Given the description of an element on the screen output the (x, y) to click on. 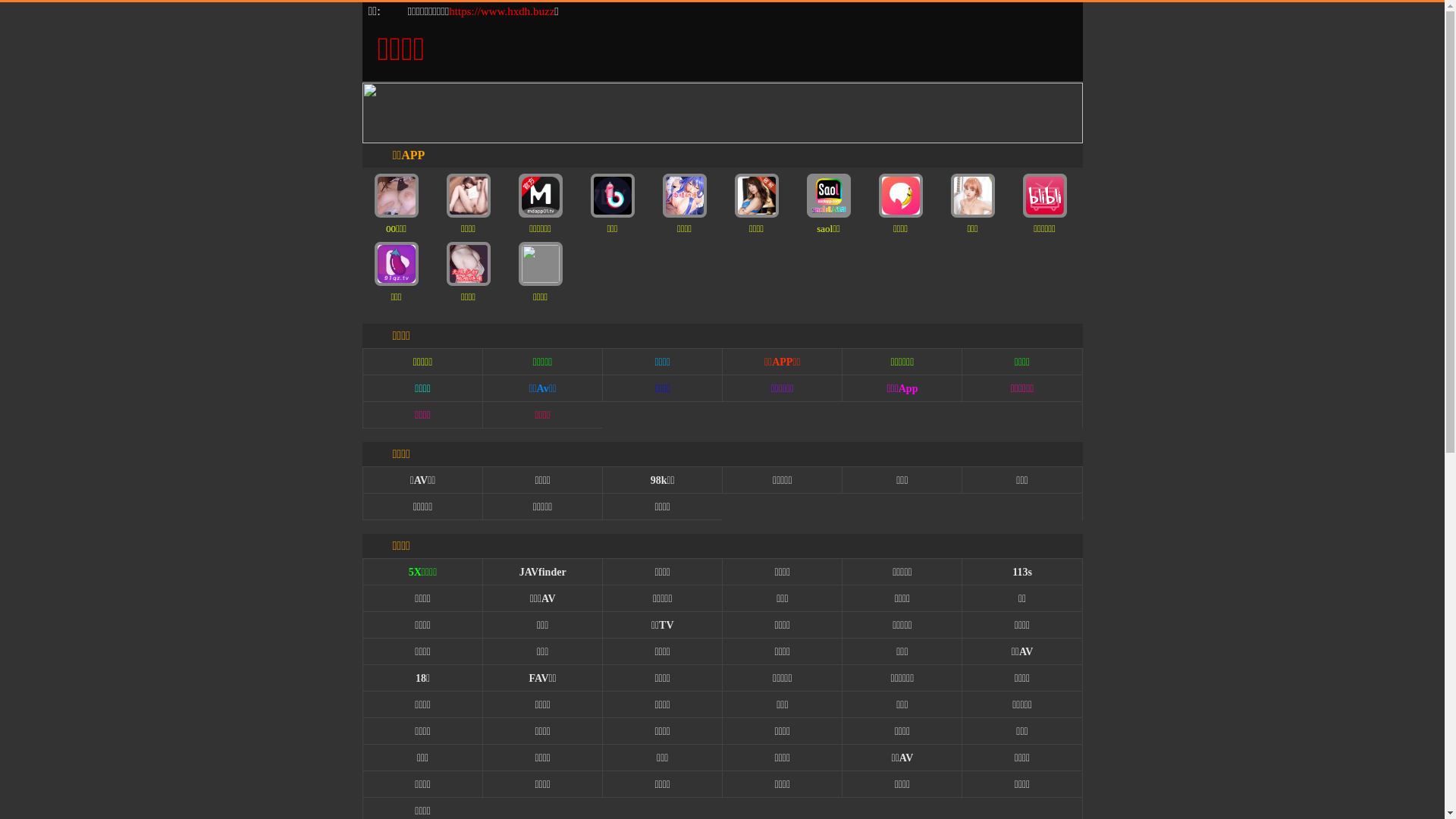
113s Element type: text (1021, 571)
JAVfinder Element type: text (542, 571)
